Given the description of an element on the screen output the (x, y) to click on. 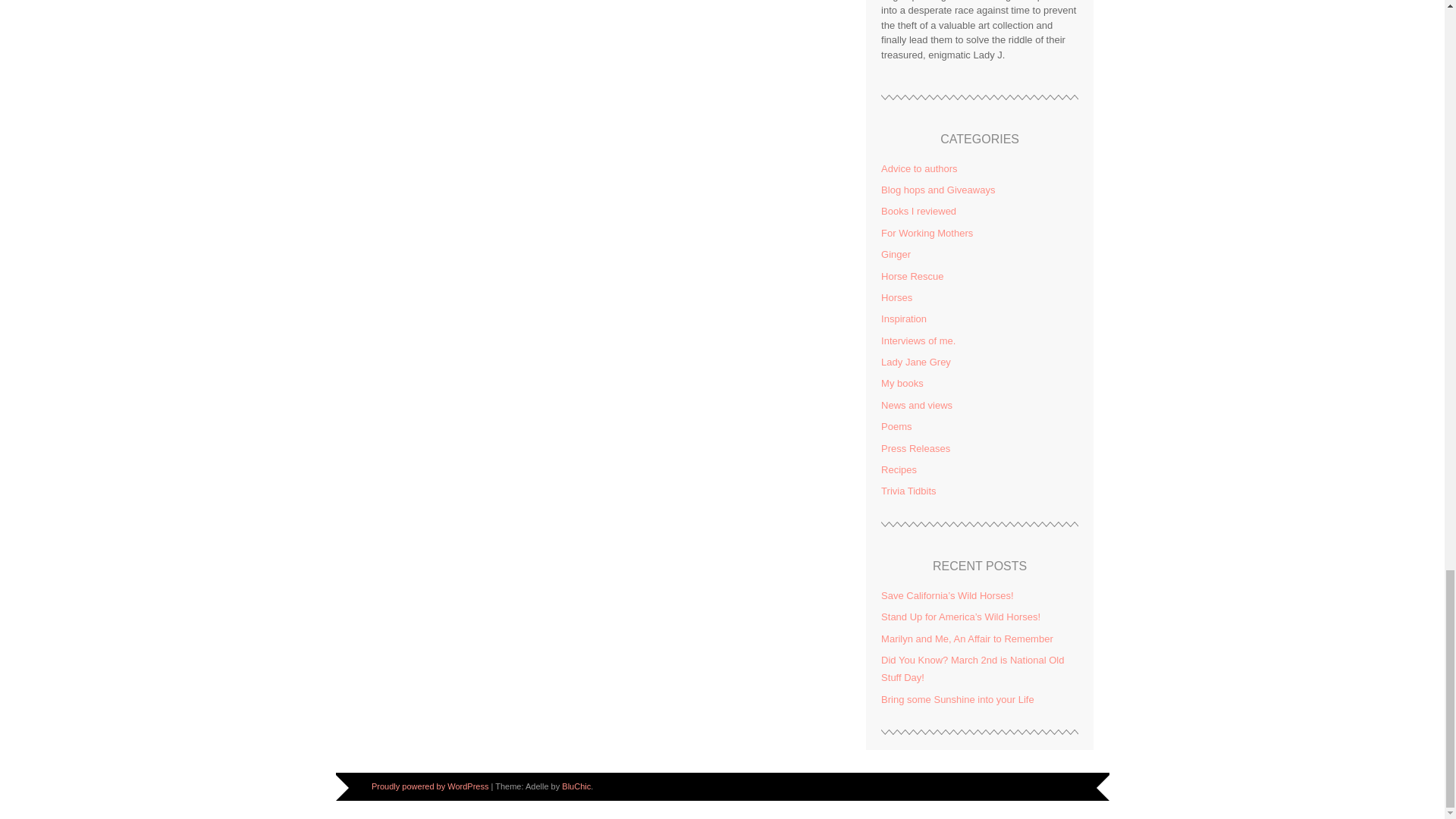
Horses (896, 297)
For Working Mothers (926, 233)
Inspiration (903, 318)
Ginger (895, 254)
Blog hops and Giveaways (937, 189)
Advice to authors (918, 168)
A Semantic Personal Publishing Platform (429, 786)
Horse Rescue (911, 276)
Books I reviewed (918, 211)
